Given the description of an element on the screen output the (x, y) to click on. 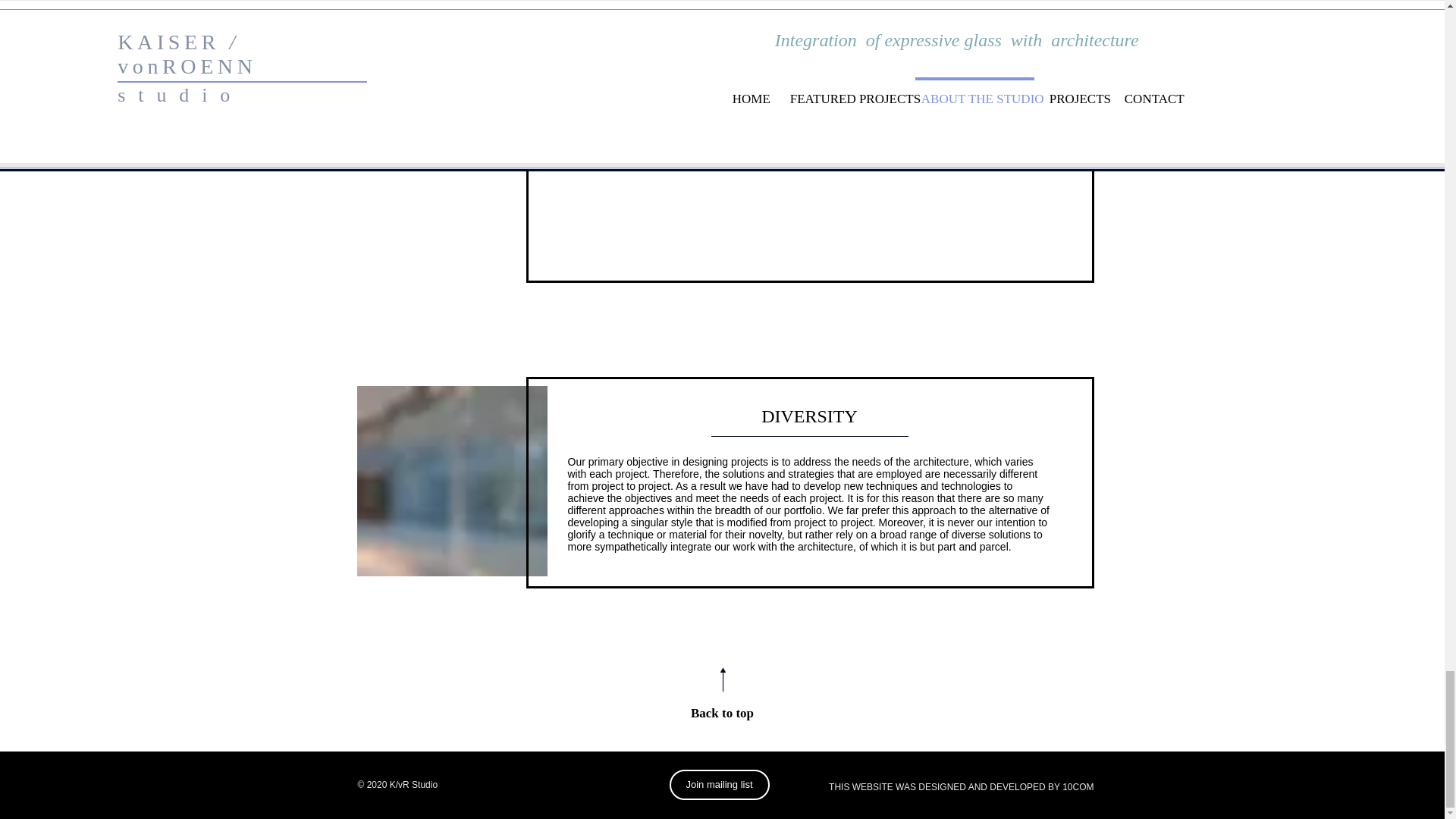
Join mailing list (718, 784)
Curricula Vitae (612, 148)
Back to top (722, 712)
10COM (1077, 787)
